Given the description of an element on the screen output the (x, y) to click on. 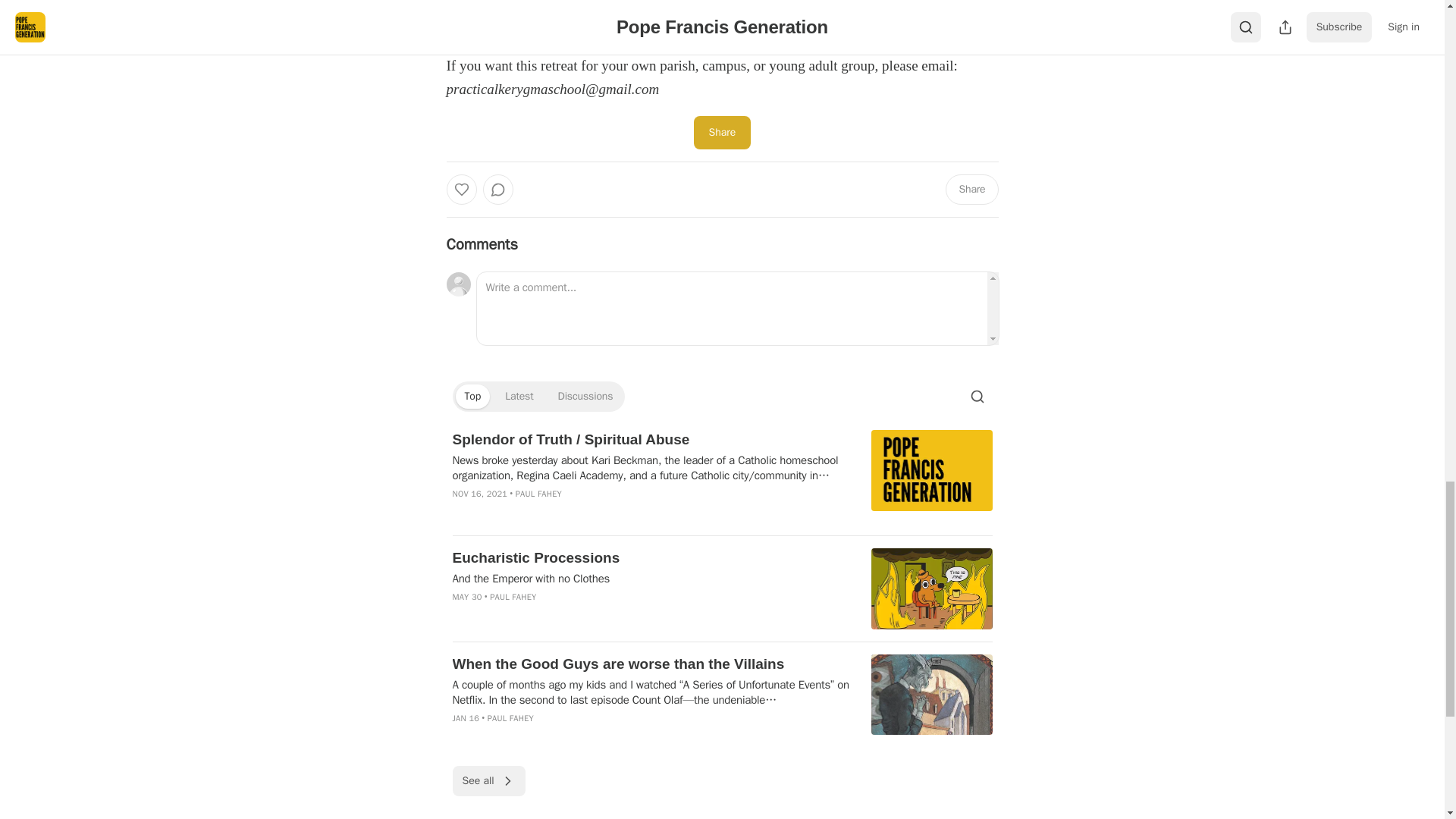
Top (471, 396)
Share (970, 189)
Latest (518, 396)
Share (722, 132)
Discussions (585, 396)
